Given the description of an element on the screen output the (x, y) to click on. 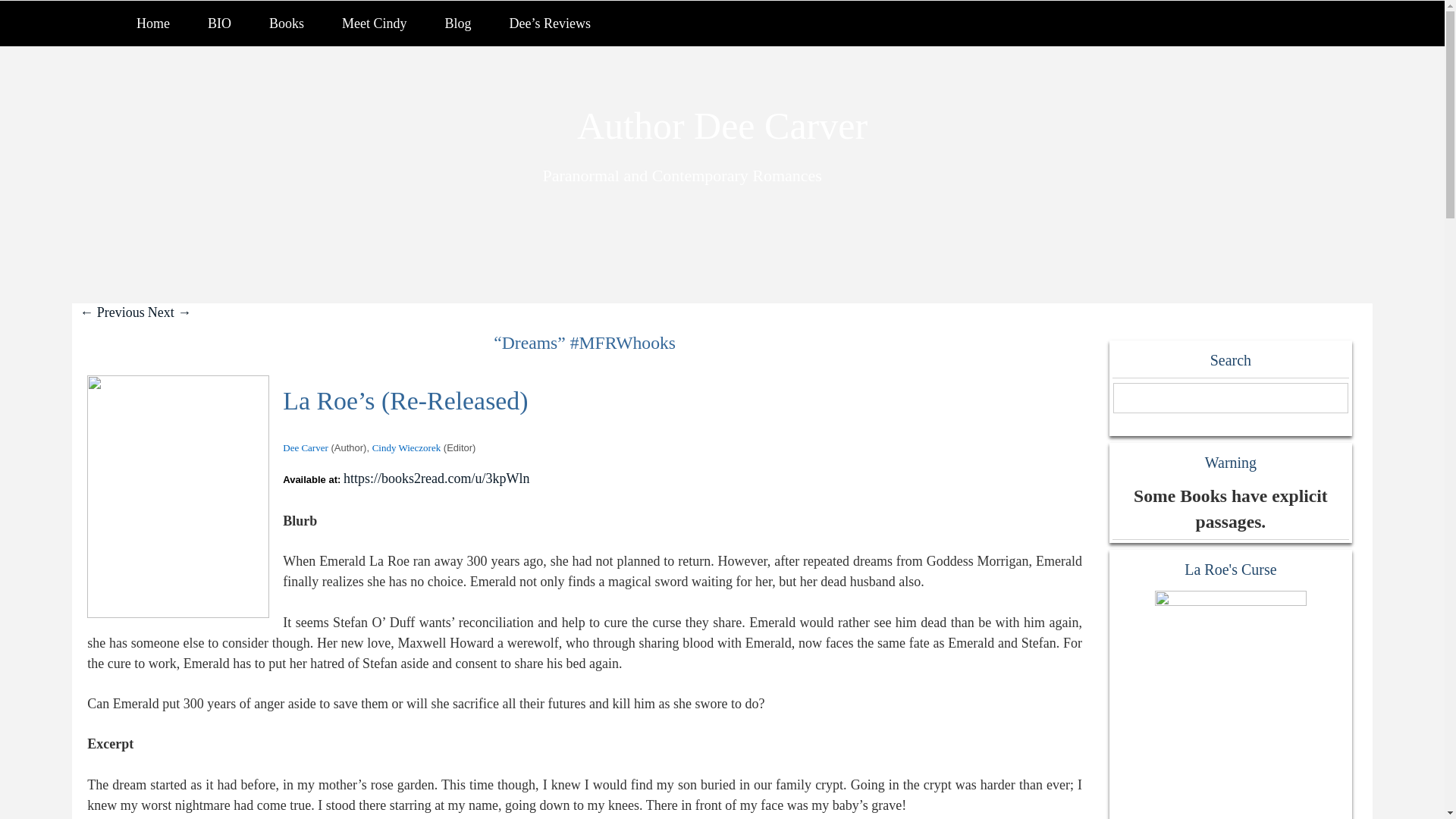
Author Dee Carver (721, 125)
Blog (458, 22)
Author Dee Carver (721, 125)
BIO (219, 22)
Dee Carver (305, 447)
Cindy Wieczorek (406, 447)
Meet Cindy (374, 22)
Books (286, 22)
Home (153, 22)
